Given the description of an element on the screen output the (x, y) to click on. 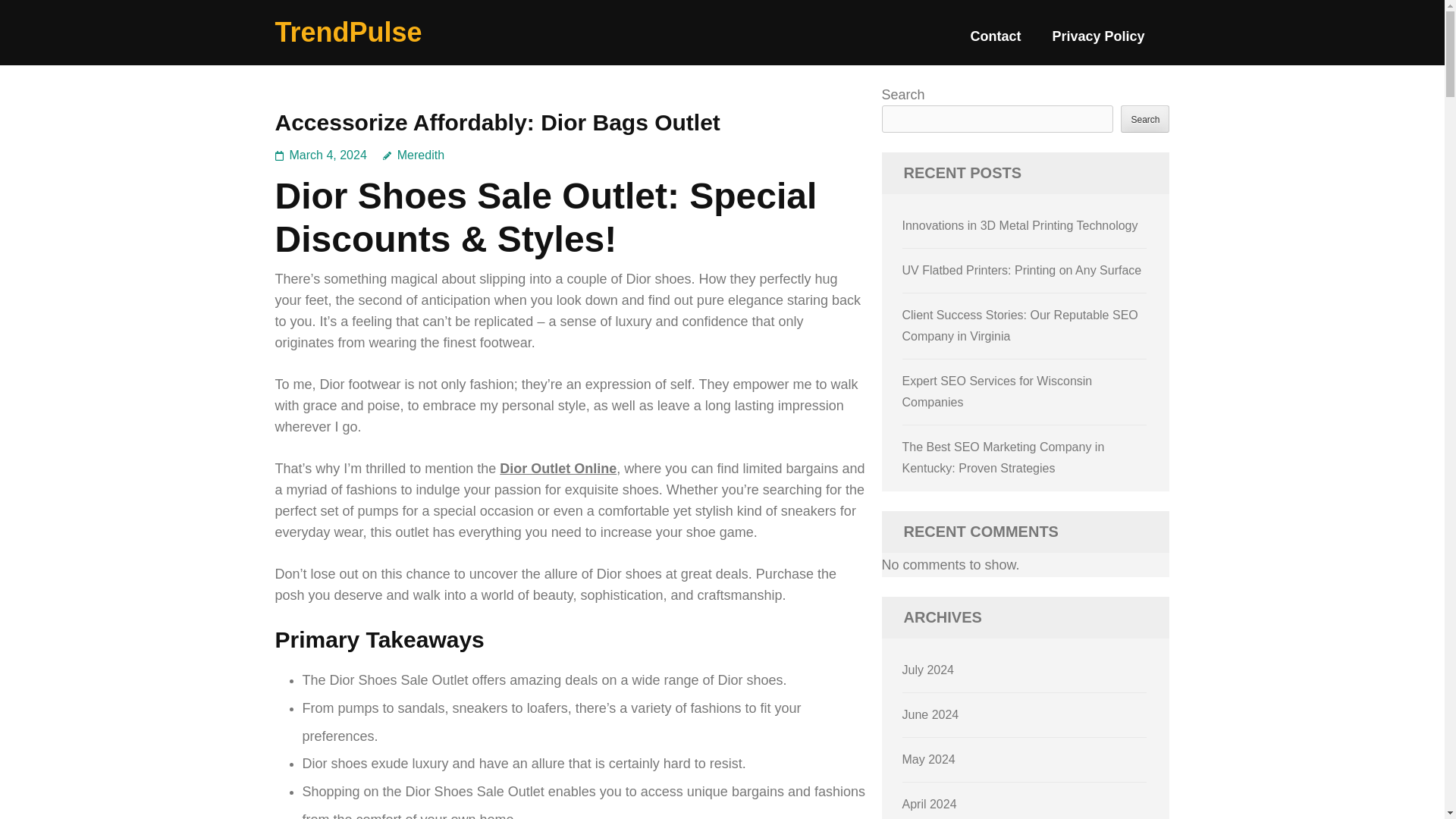
Privacy Policy (1097, 42)
June 2024 (930, 714)
TrendPulse (348, 31)
July 2024 (928, 669)
Search (1145, 118)
March 4, 2024 (327, 154)
Meredith (413, 154)
UV Flatbed Printers: Printing on Any Surface (1021, 269)
Innovations in 3D Metal Printing Technology (1020, 225)
April 2024 (929, 803)
Contact (994, 42)
Dior Outlet Online (557, 468)
Expert SEO Services for Wisconsin Companies (997, 391)
